Given the description of an element on the screen output the (x, y) to click on. 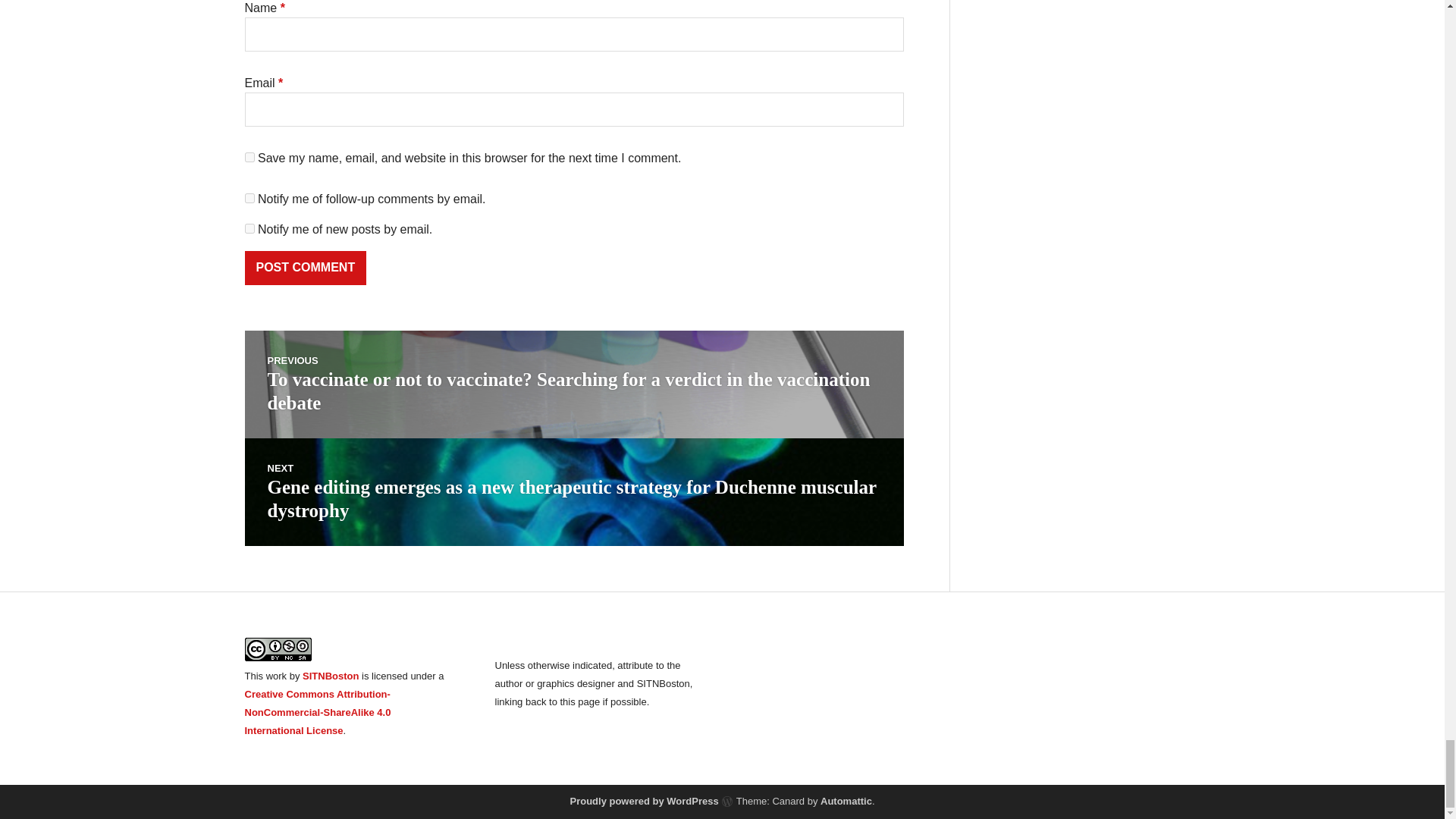
subscribe (248, 228)
yes (248, 157)
Post Comment (305, 267)
subscribe (248, 198)
